Given the description of an element on the screen output the (x, y) to click on. 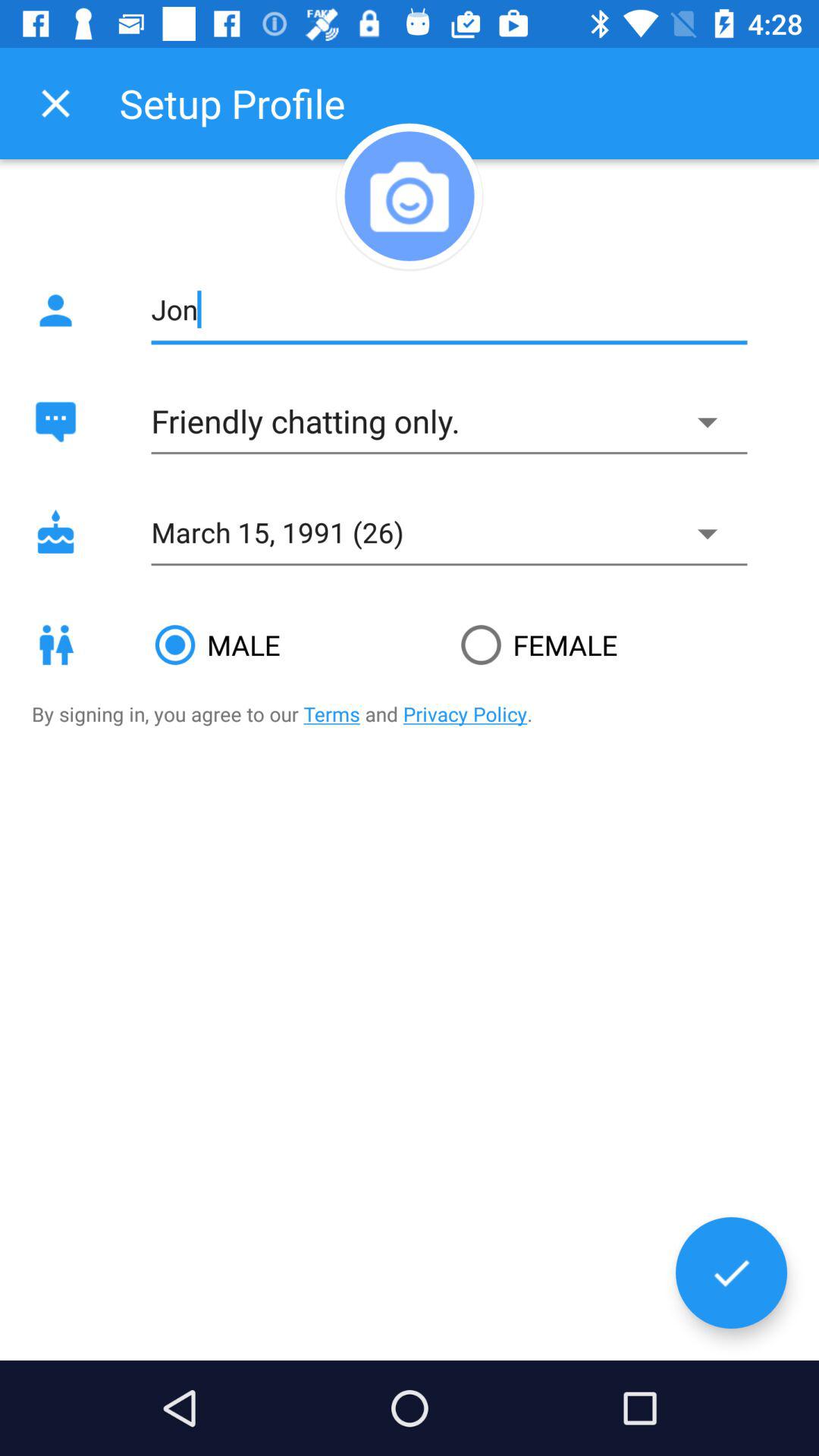
upload profile photo (409, 196)
